Given the description of an element on the screen output the (x, y) to click on. 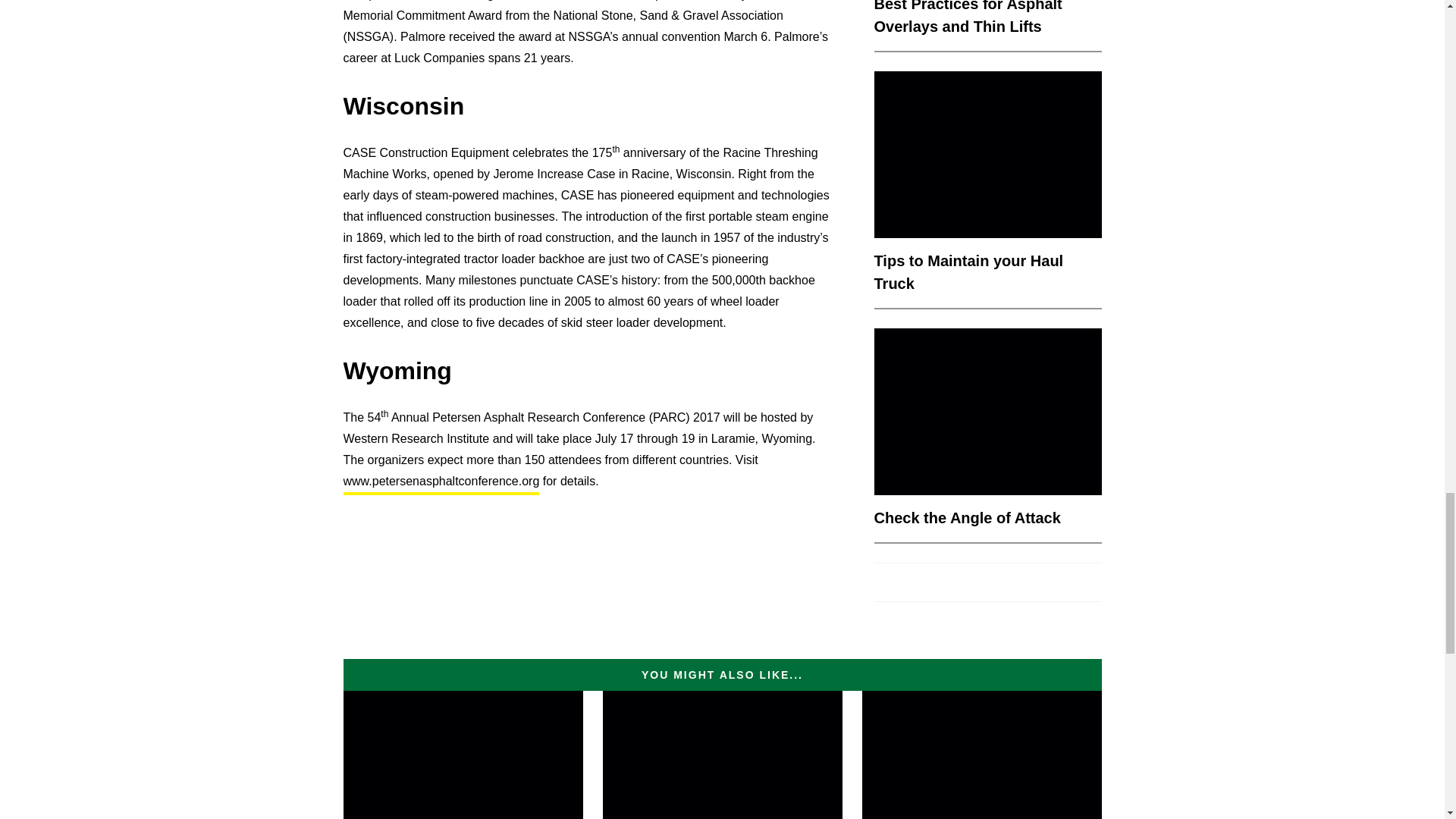
TransTech Systems Acquires Ames Engineering (462, 755)
Innoplast Expands (721, 755)
Dynapac Celebrates 90th Anniversary with Dream On 3 (980, 755)
